Given the description of an element on the screen output the (x, y) to click on. 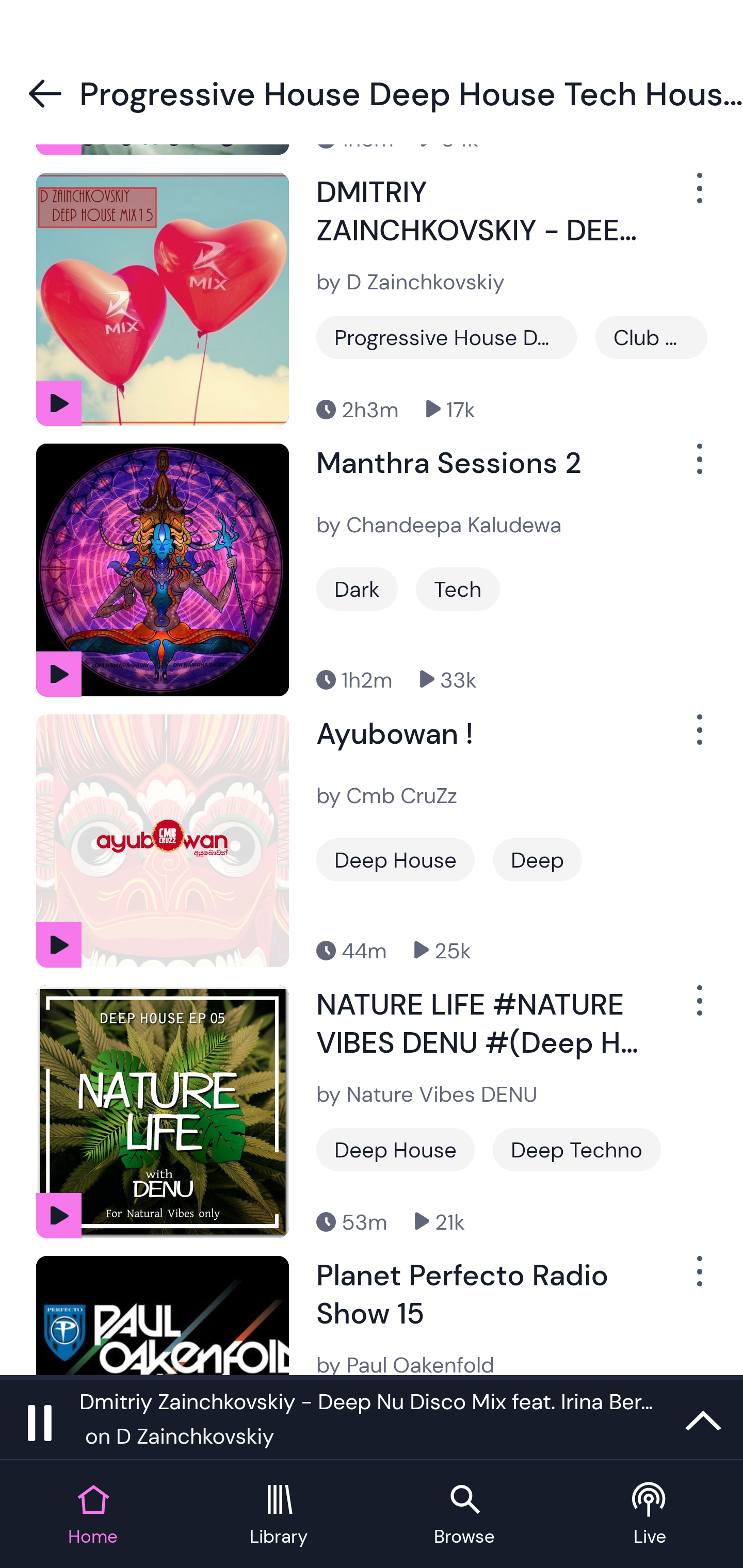
Show Options Menu Button (697, 195)
Progressive House Deep House Tech House (446, 337)
Club House (650, 337)
Show Options Menu Button (697, 466)
Dark (356, 588)
Tech (458, 588)
Show Options Menu Button (697, 738)
Deep House (395, 859)
Deep (536, 859)
Show Options Menu Button (697, 1007)
Deep House (395, 1149)
Deep Techno (576, 1149)
Show Options Menu Button (697, 1279)
Home tab Home (92, 1515)
Library tab Library (278, 1515)
Browse tab Browse (464, 1515)
Live tab Live (650, 1515)
